Given the description of an element on the screen output the (x, y) to click on. 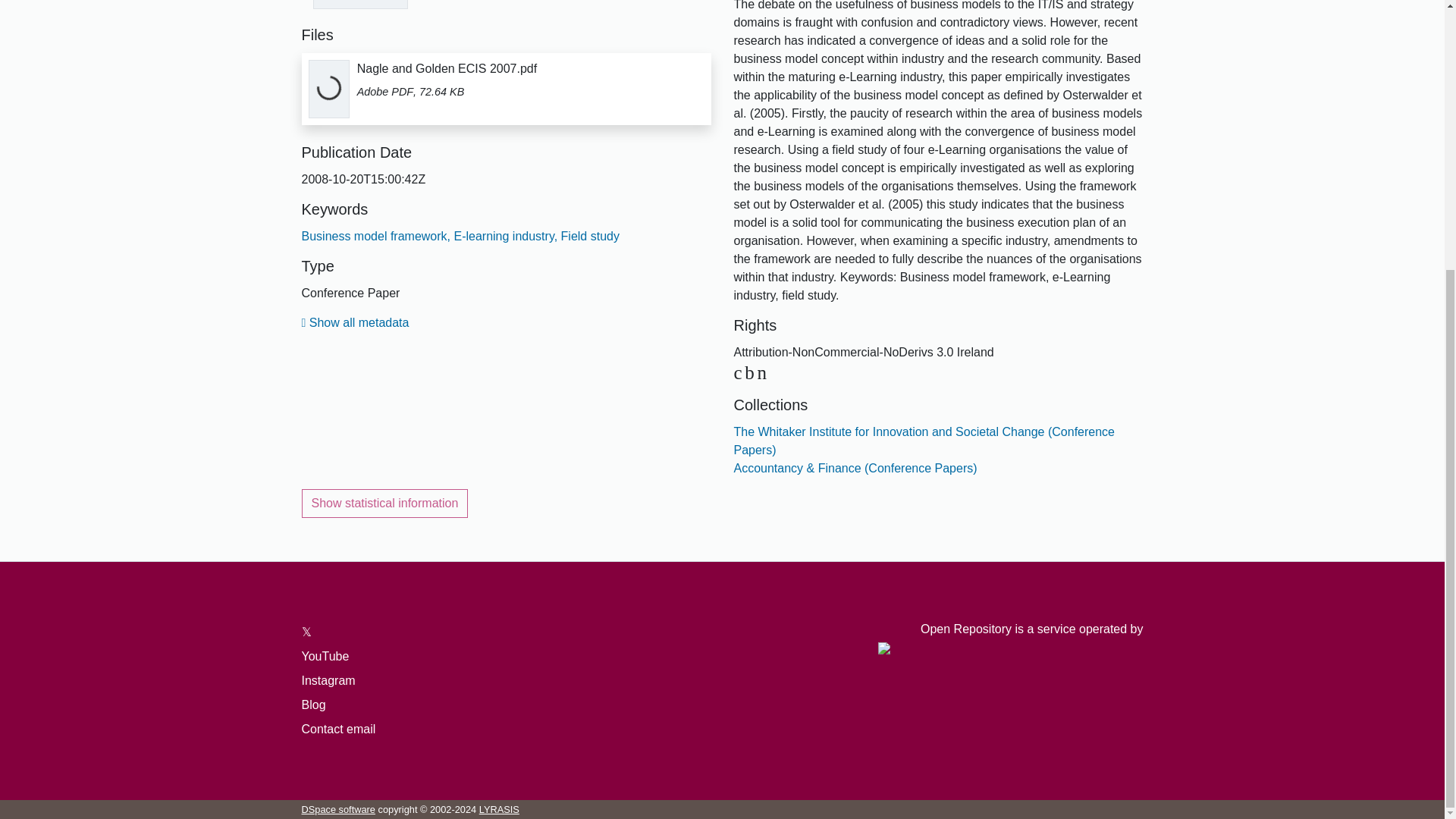
Business model framework, (376, 236)
Attribution-NonCommercial-NoDerivs 3.0 Ireland (751, 372)
Show all metadata (355, 322)
E-learning industry, (503, 236)
cbn (751, 372)
Show statistical information (384, 502)
Field study (588, 236)
YouTube (325, 656)
